Given the description of an element on the screen output the (x, y) to click on. 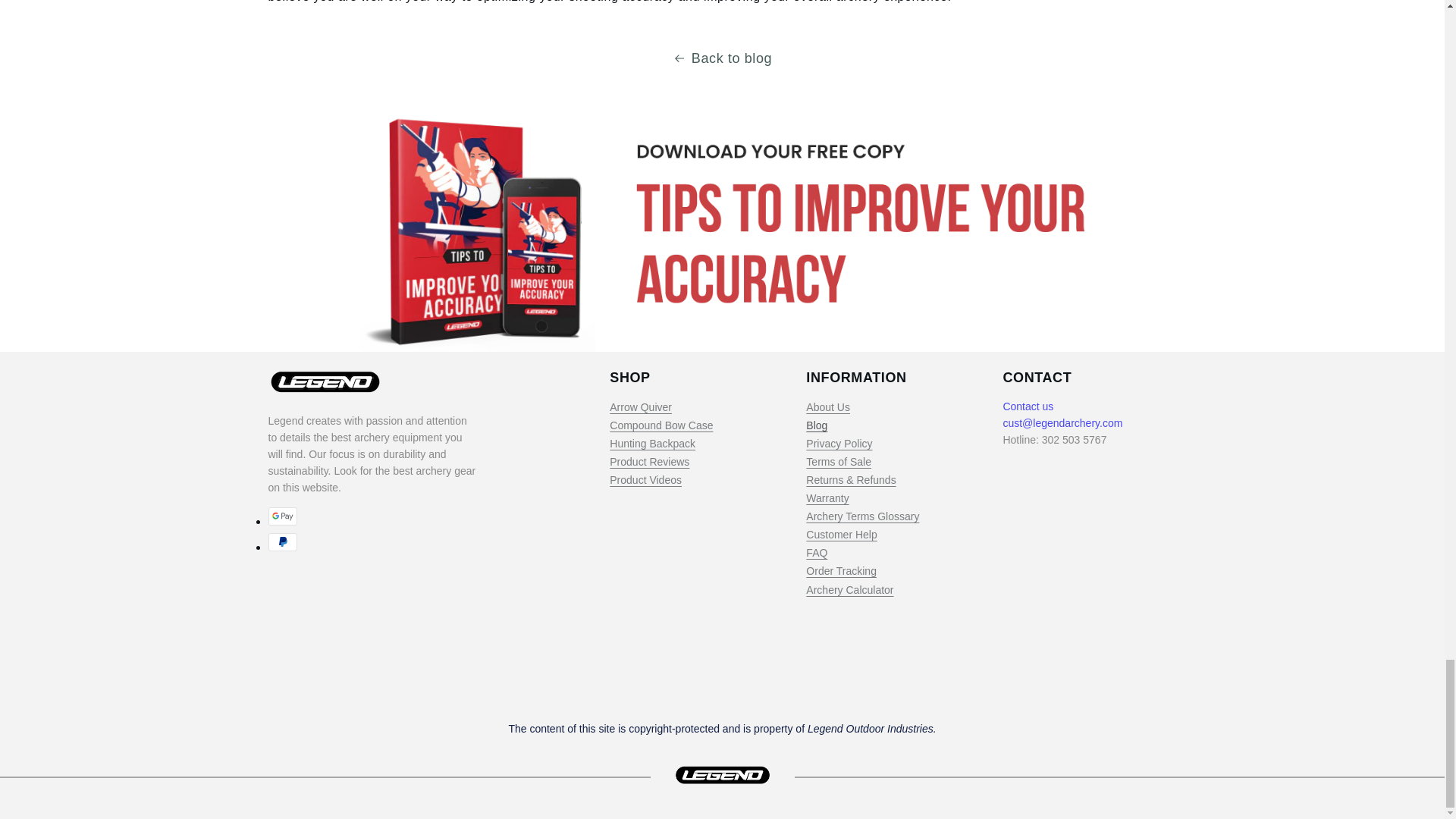
Google Pay (282, 515)
Contact Us (1027, 406)
PayPal (282, 542)
